Given the description of an element on the screen output the (x, y) to click on. 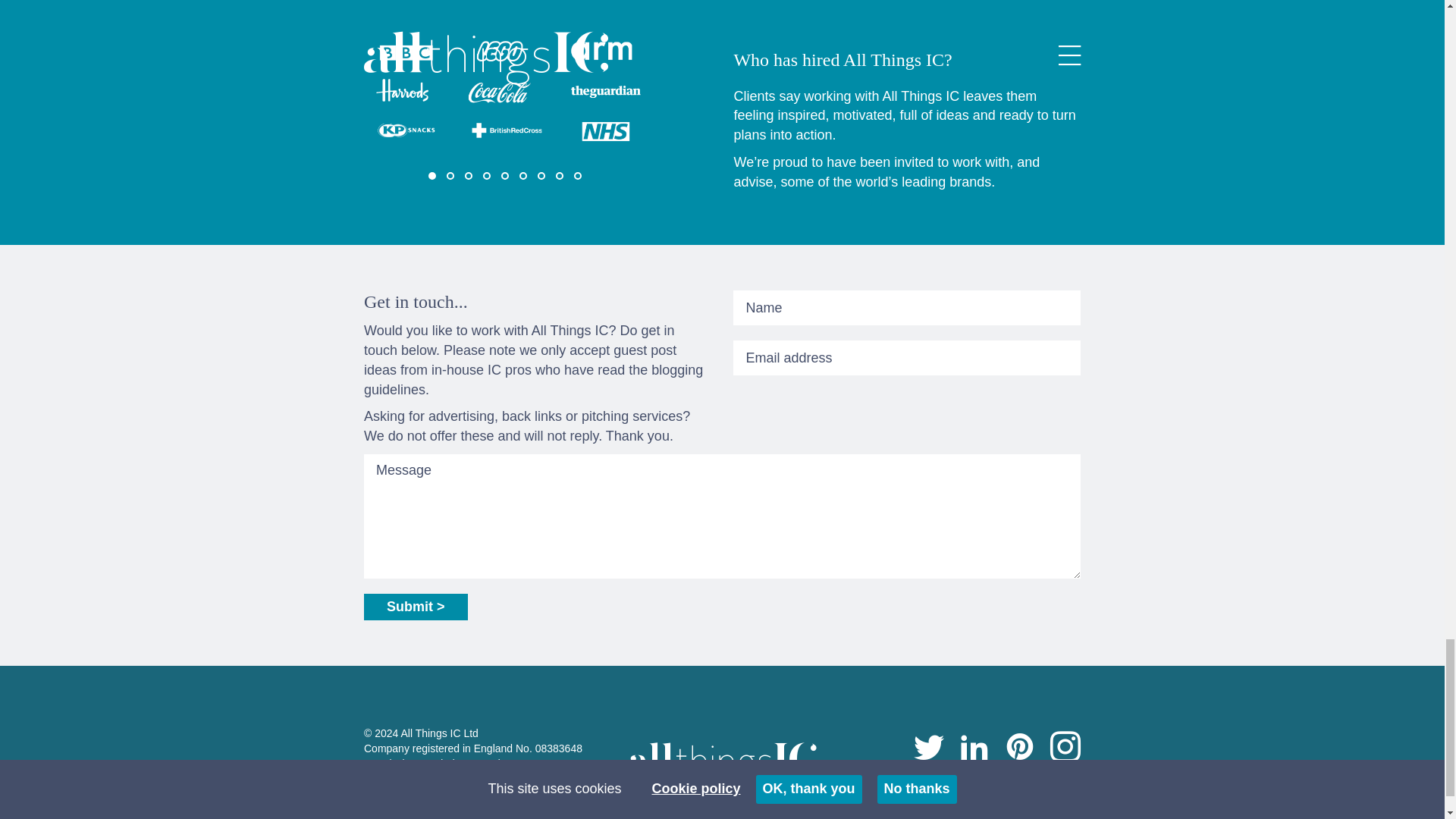
All Things IC on Pinterest (1019, 748)
All Things IC on Linkedin (974, 748)
All Things IC on Twitter (928, 748)
All Things IC on Instagram (1064, 748)
